Given the description of an element on the screen output the (x, y) to click on. 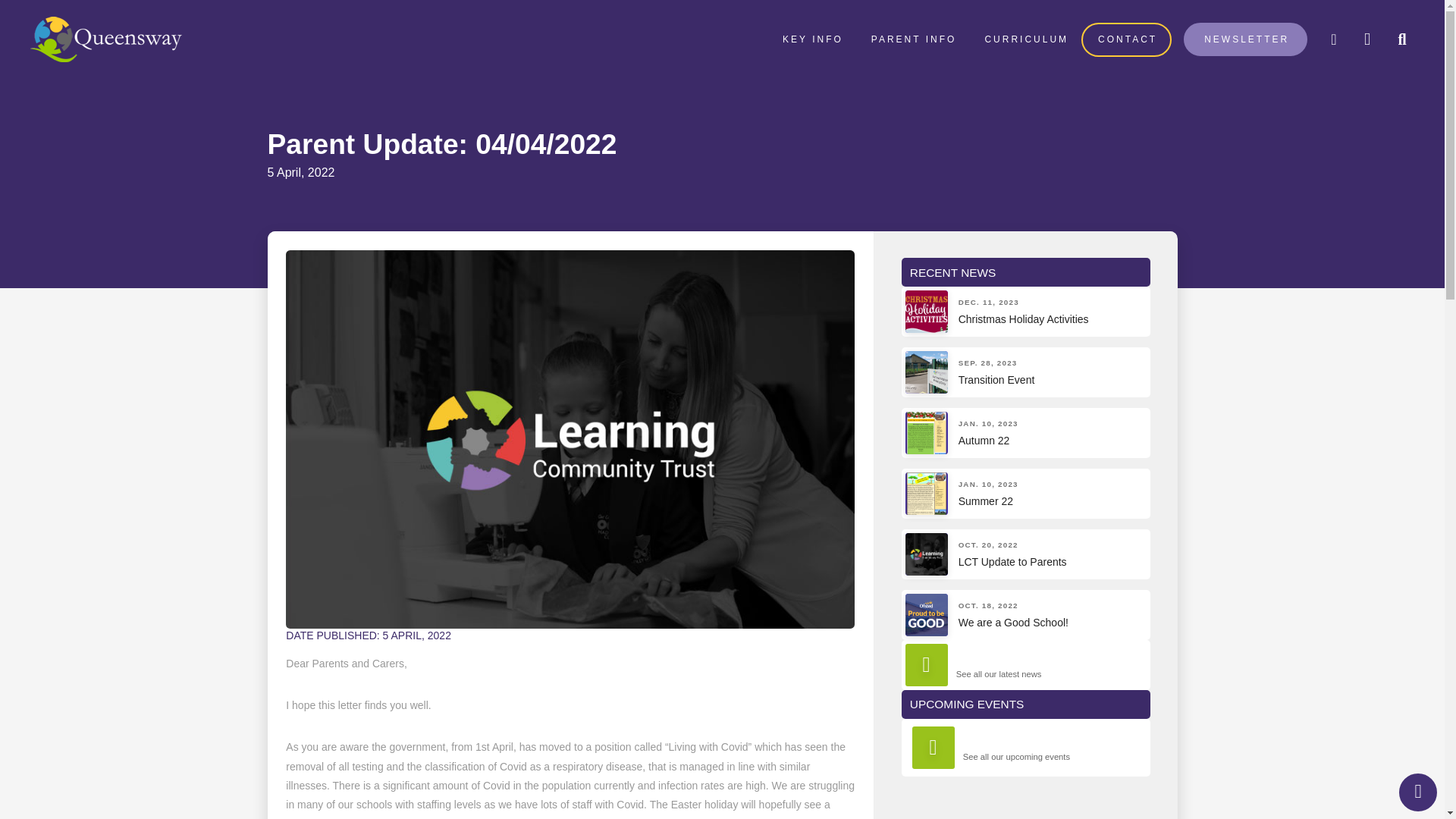
Back to Top (1025, 554)
NEWSLETTER (1418, 792)
